Given the description of an element on the screen output the (x, y) to click on. 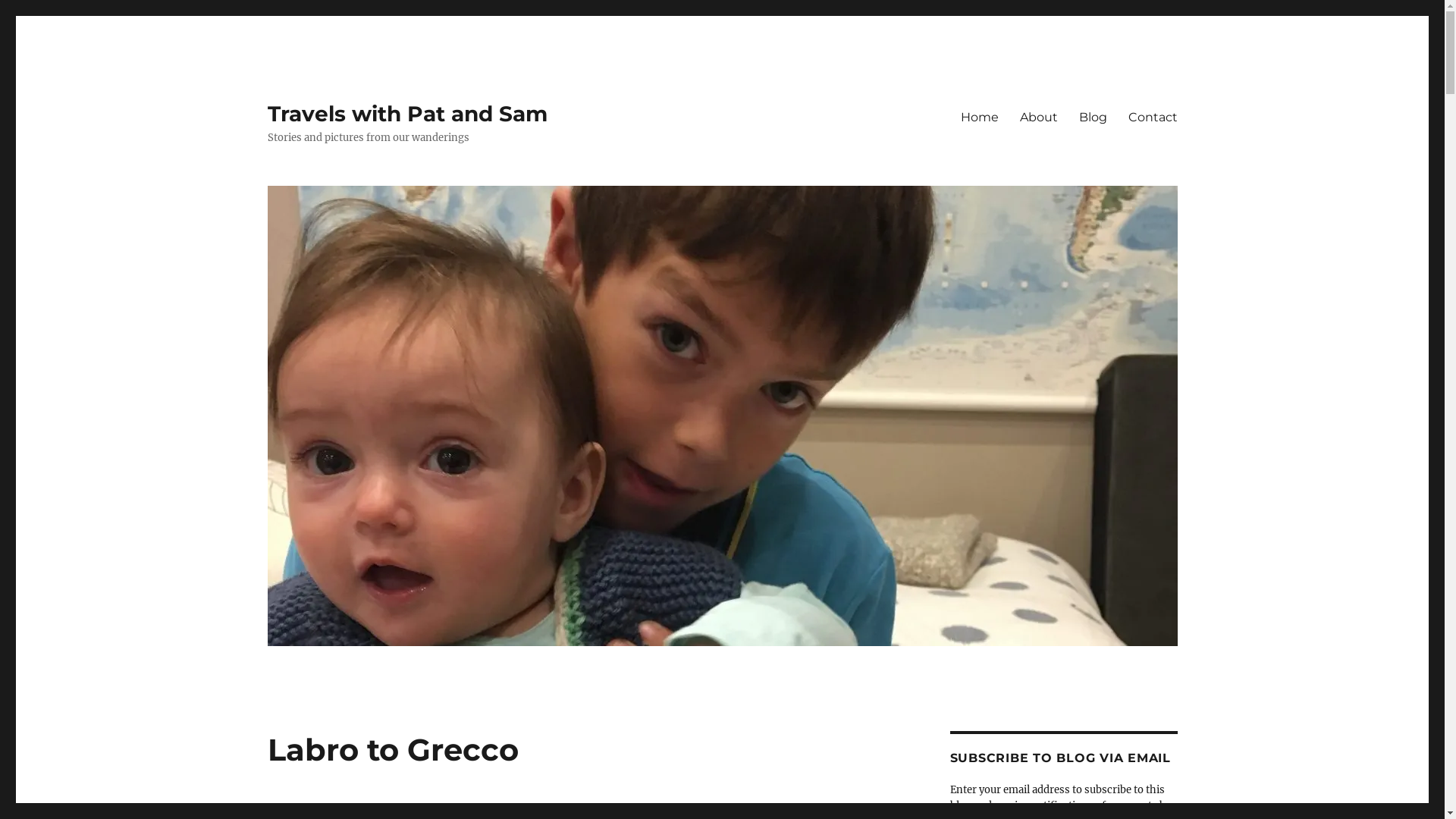
Contact Element type: text (1152, 116)
Travels with Pat and Sam Element type: text (406, 113)
Home Element type: text (978, 116)
Blog Element type: text (1092, 116)
About Element type: text (1037, 116)
